Given the description of an element on the screen output the (x, y) to click on. 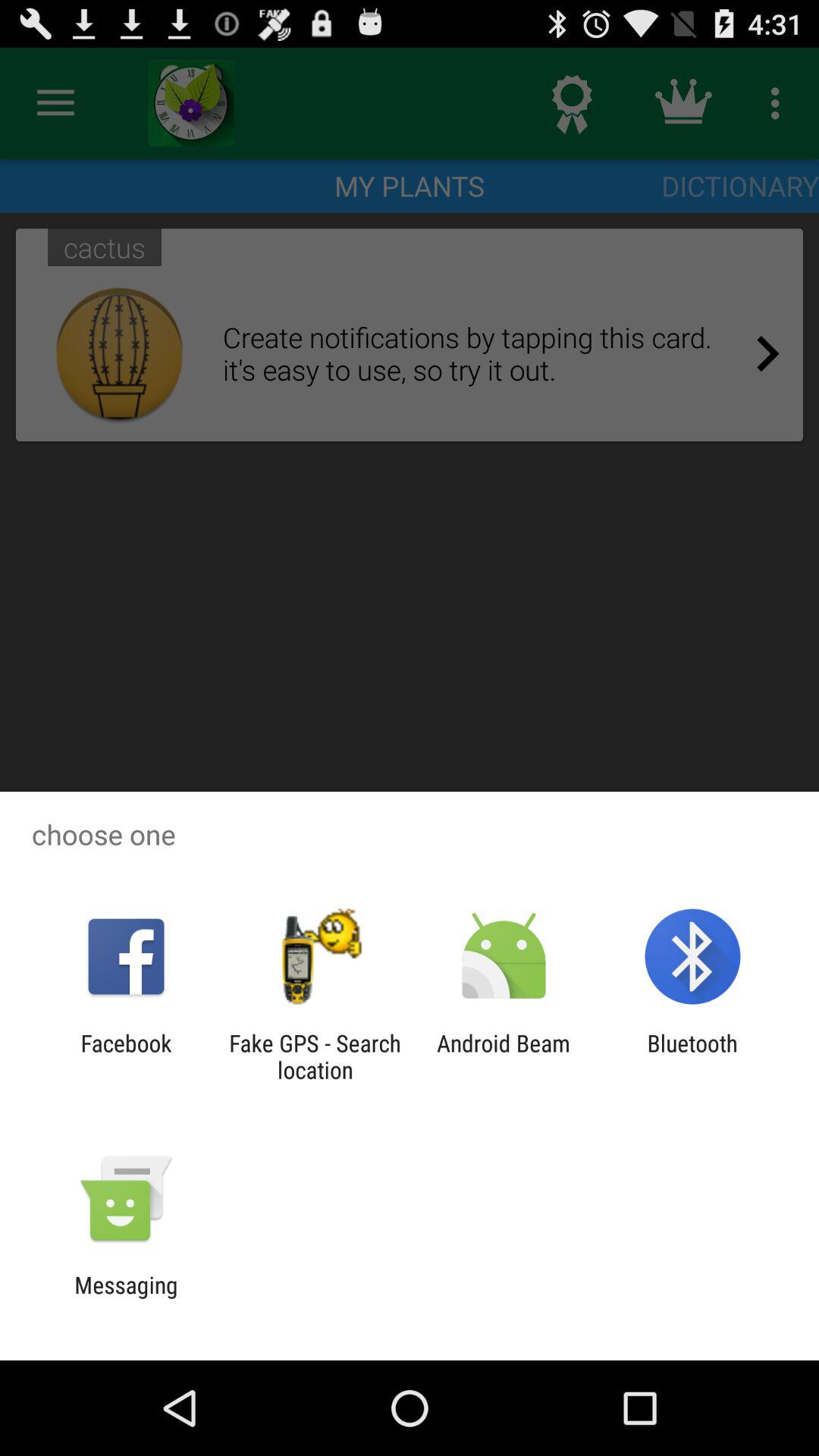
open icon to the right of the fake gps search icon (503, 1056)
